Given the description of an element on the screen output the (x, y) to click on. 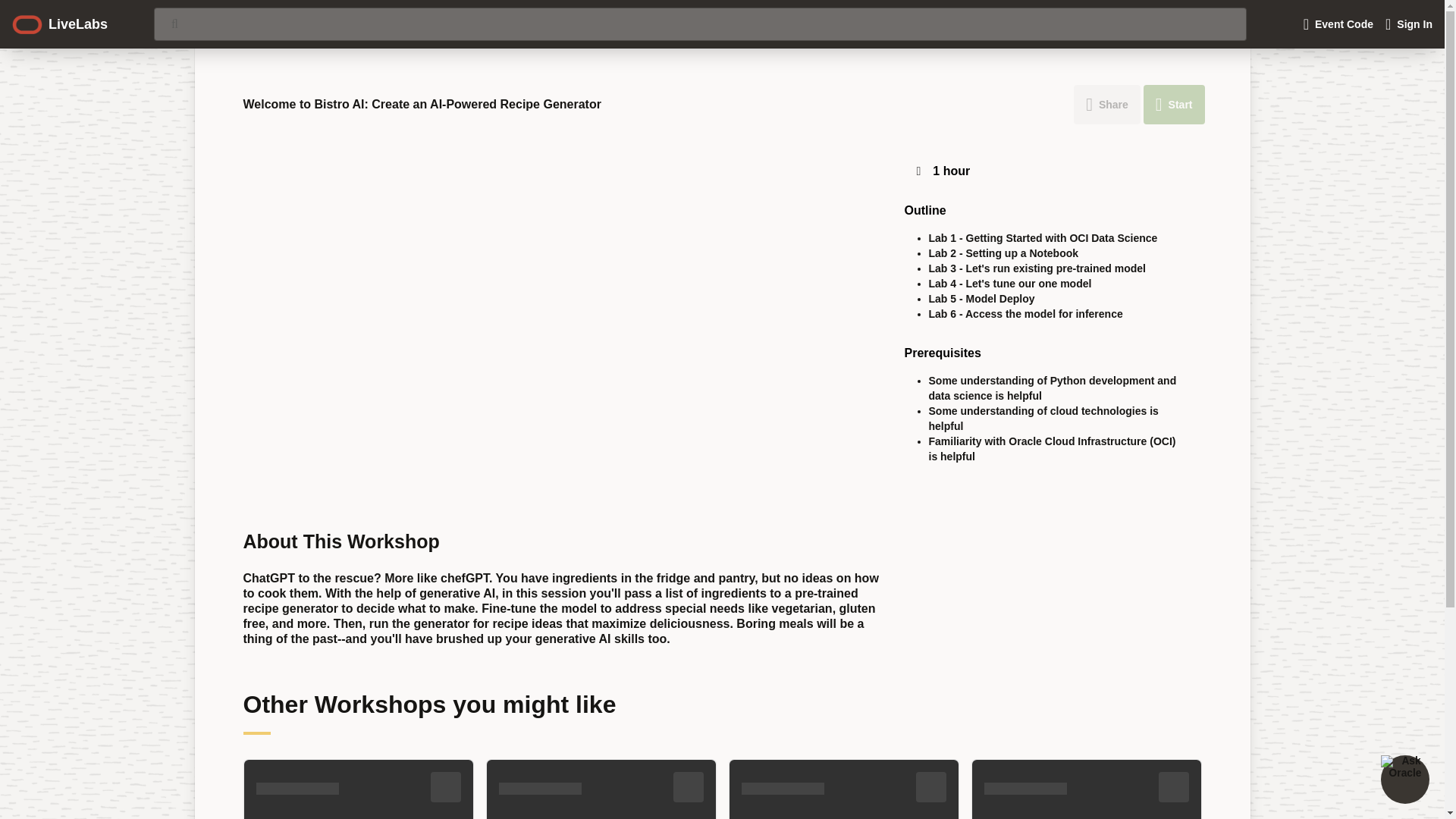
Sign In (1408, 23)
LiveLabs (59, 24)
Ask Oracle (1404, 779)
Share (1107, 104)
Start (1173, 104)
Event Code (1337, 23)
